Given the description of an element on the screen output the (x, y) to click on. 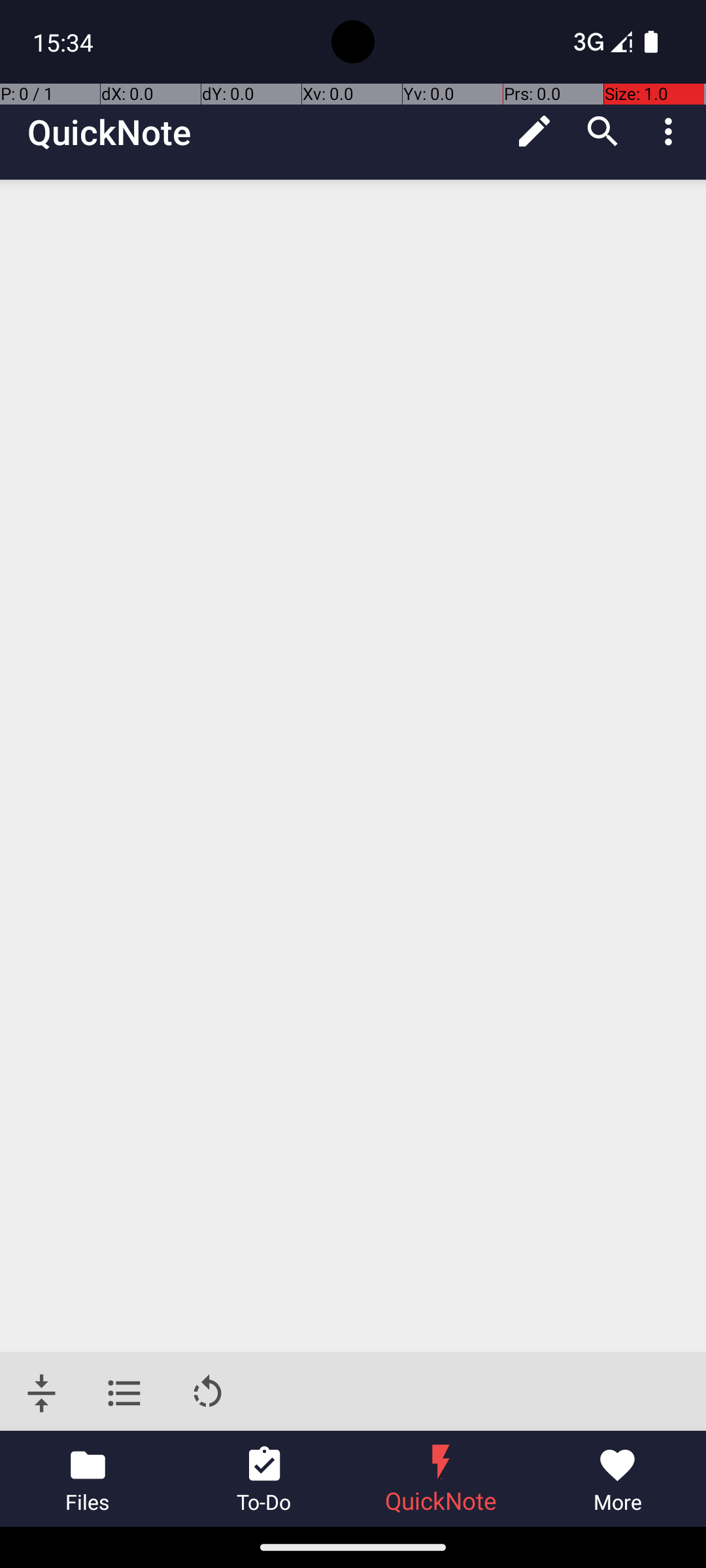
Edit mode Element type: android.widget.TextView (534, 131)
Jump to bottom Element type: android.widget.ImageView (41, 1392)
Table of contents Element type: android.widget.ImageView (124, 1392)
Rotate Element type: android.widget.ImageView (207, 1392)
